Given the description of an element on the screen output the (x, y) to click on. 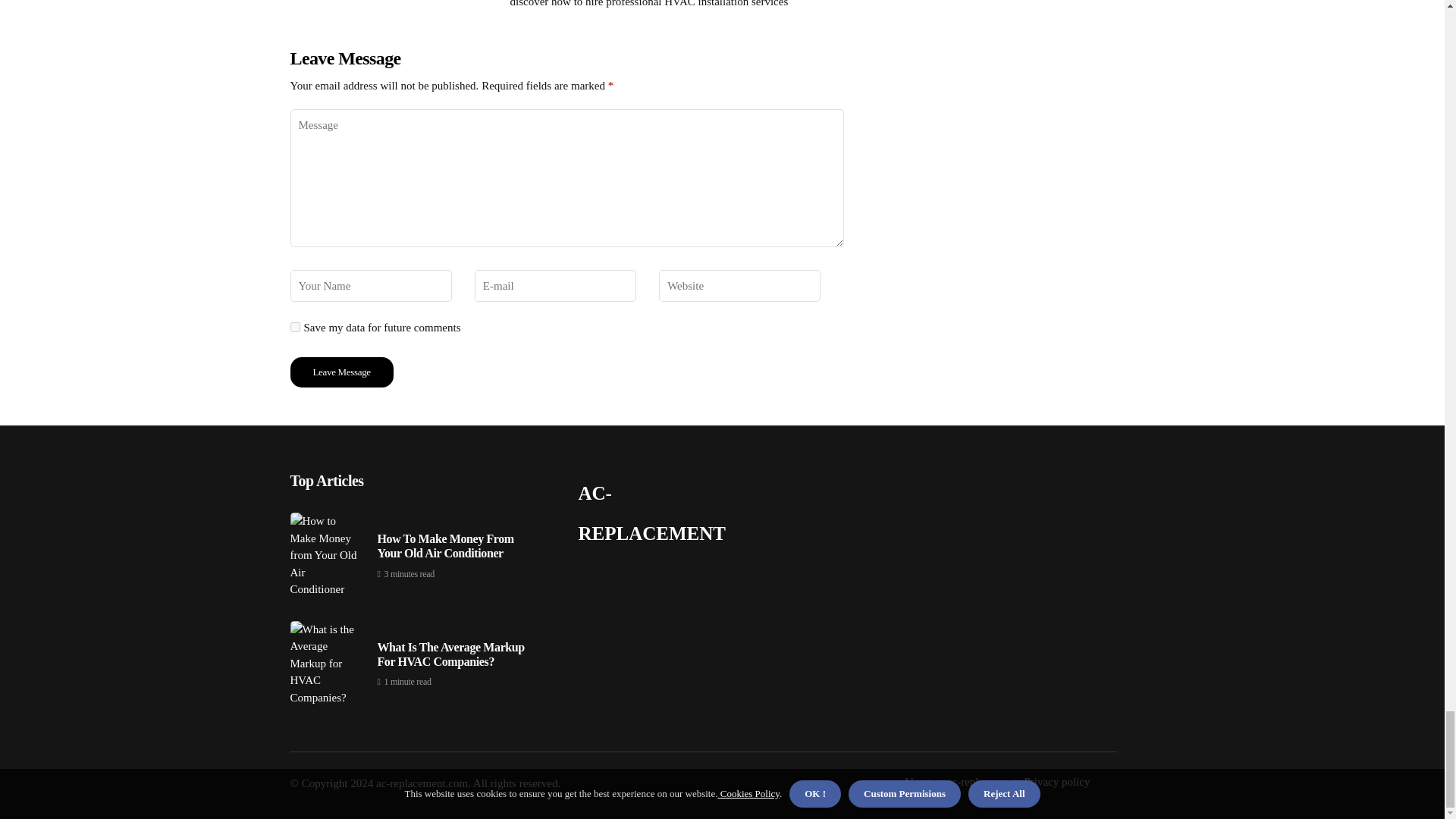
Leave Message (341, 372)
Leave Message (341, 372)
yes (294, 327)
